Given the description of an element on the screen output the (x, y) to click on. 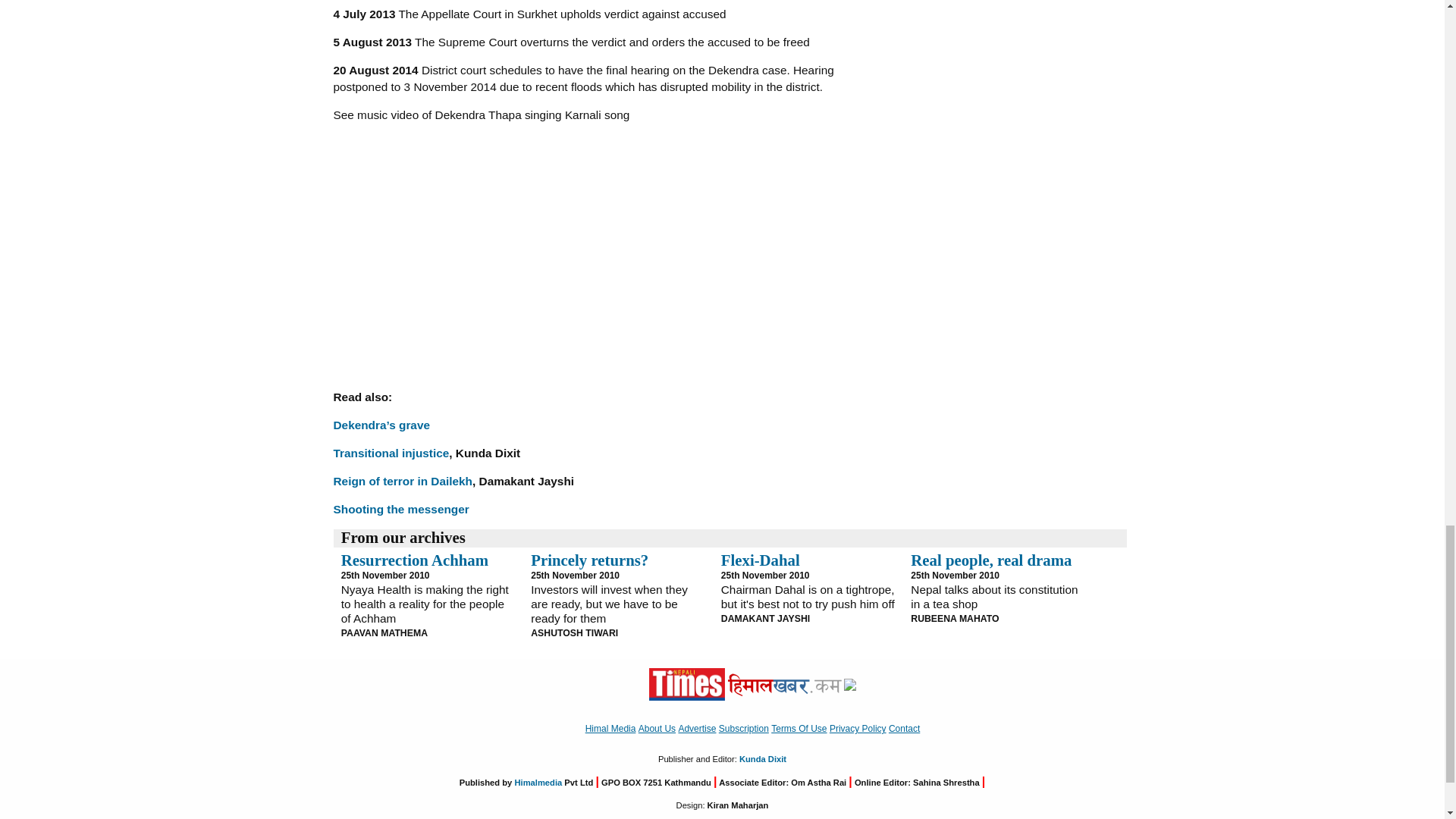
Nepali Times (687, 683)
Himal Media (850, 683)
Himalkhabar (784, 683)
